Given the description of an element on the screen output the (x, y) to click on. 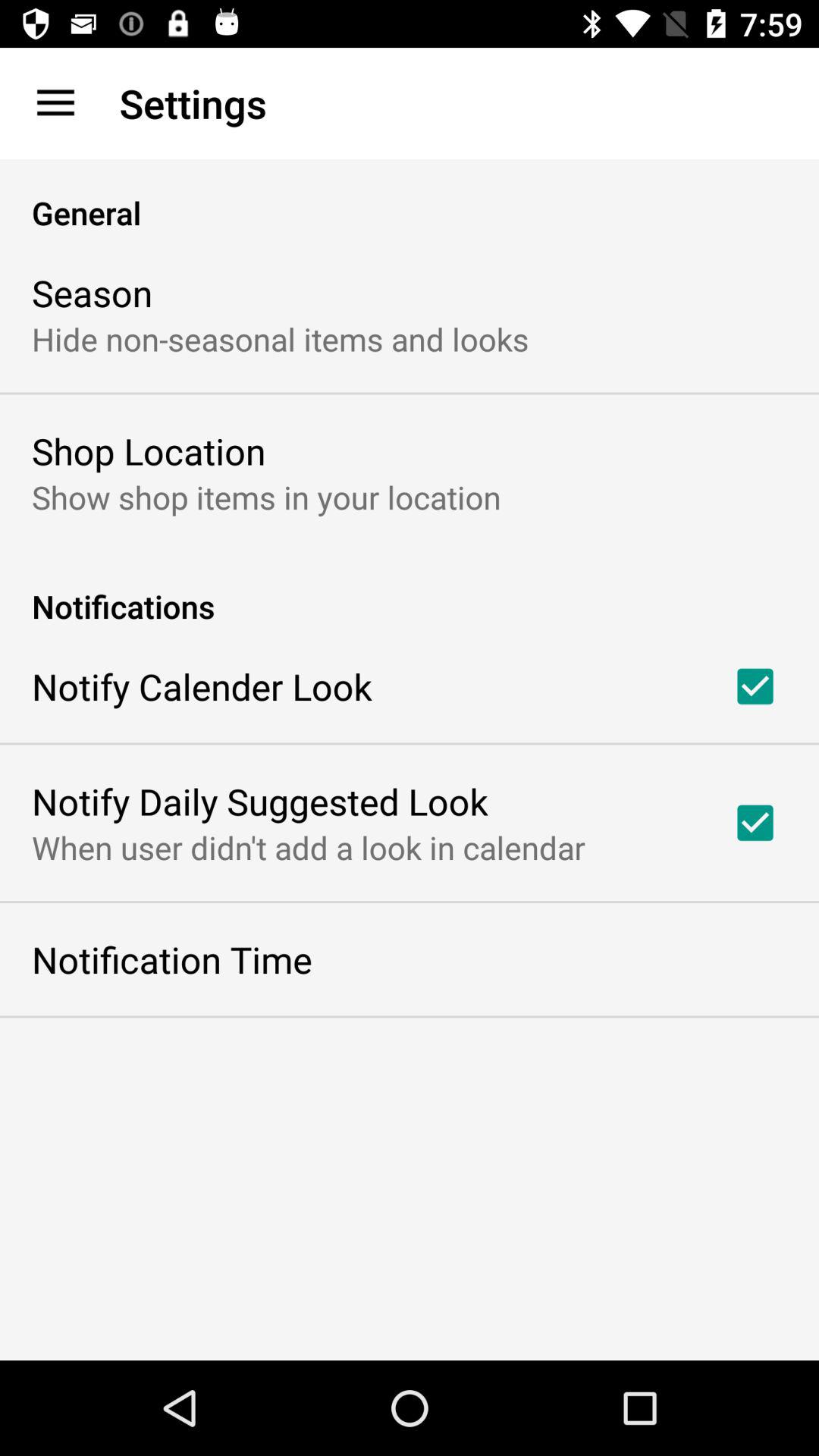
press the item above notify daily suggested icon (201, 686)
